Given the description of an element on the screen output the (x, y) to click on. 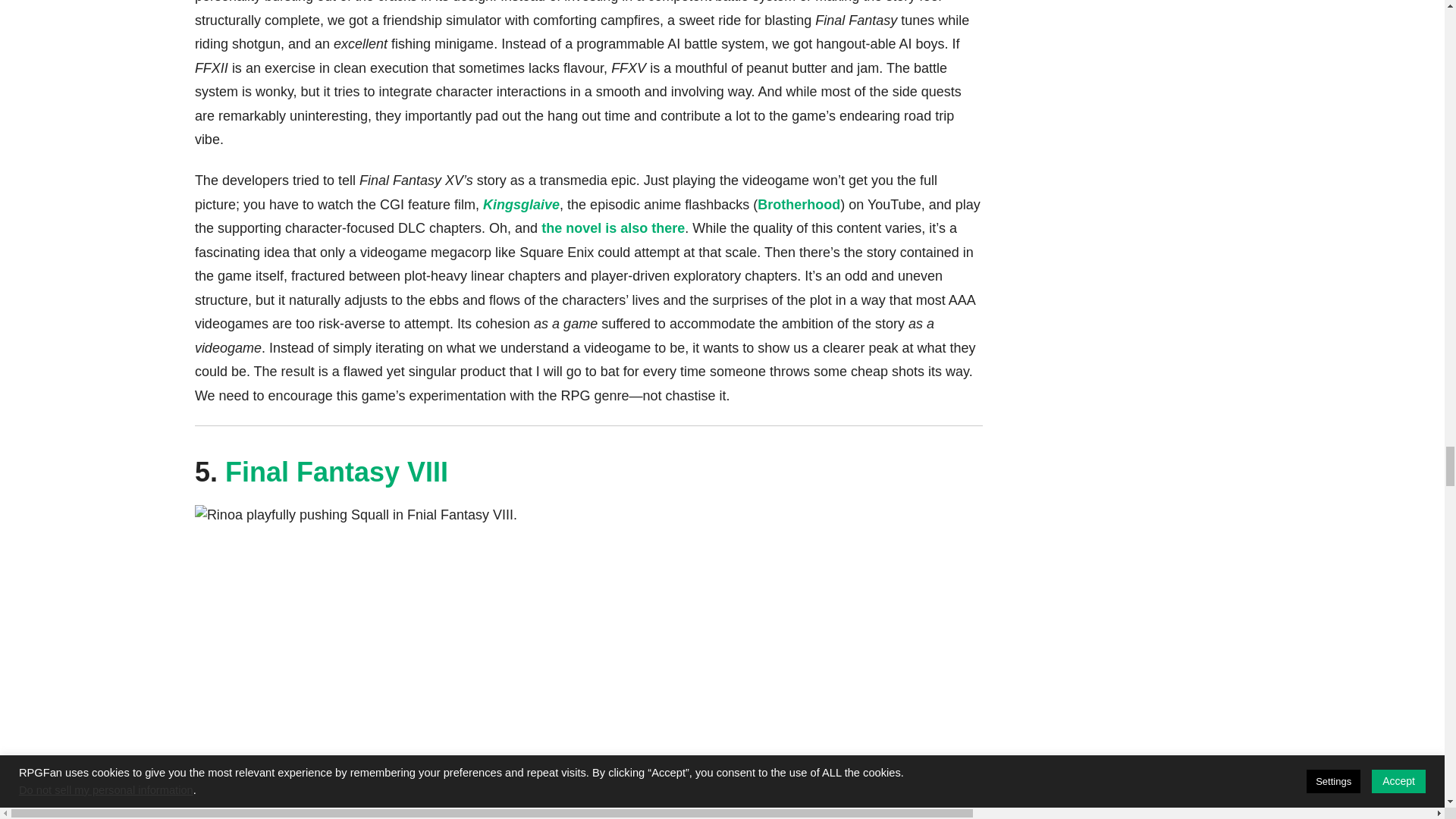
Brotherhood (798, 204)
Kingsglaive (521, 204)
